Given the description of an element on the screen output the (x, y) to click on. 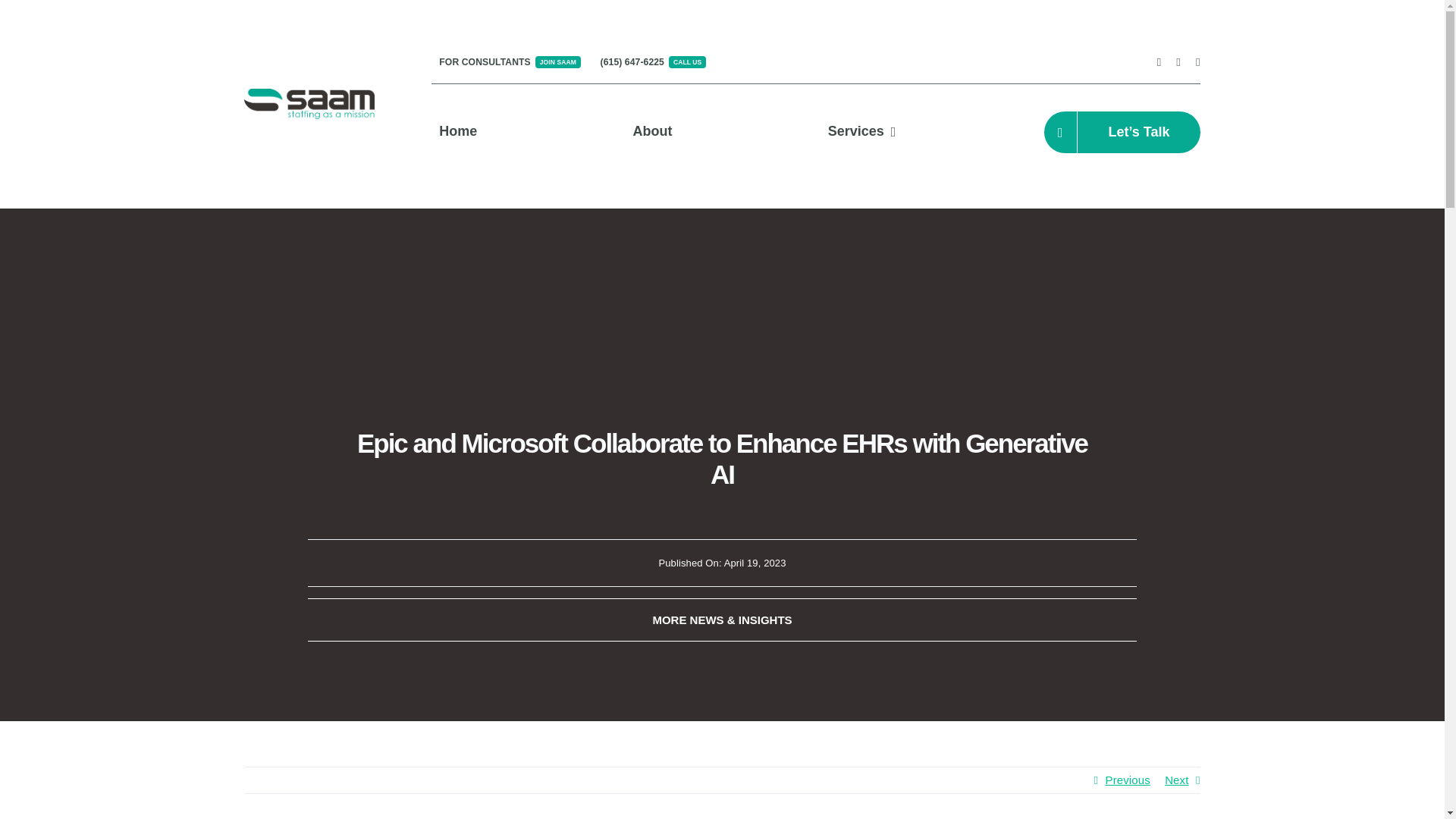
Next (1176, 780)
Services (862, 132)
About (652, 132)
Previous (1127, 780)
Home (509, 62)
